Given the description of an element on the screen output the (x, y) to click on. 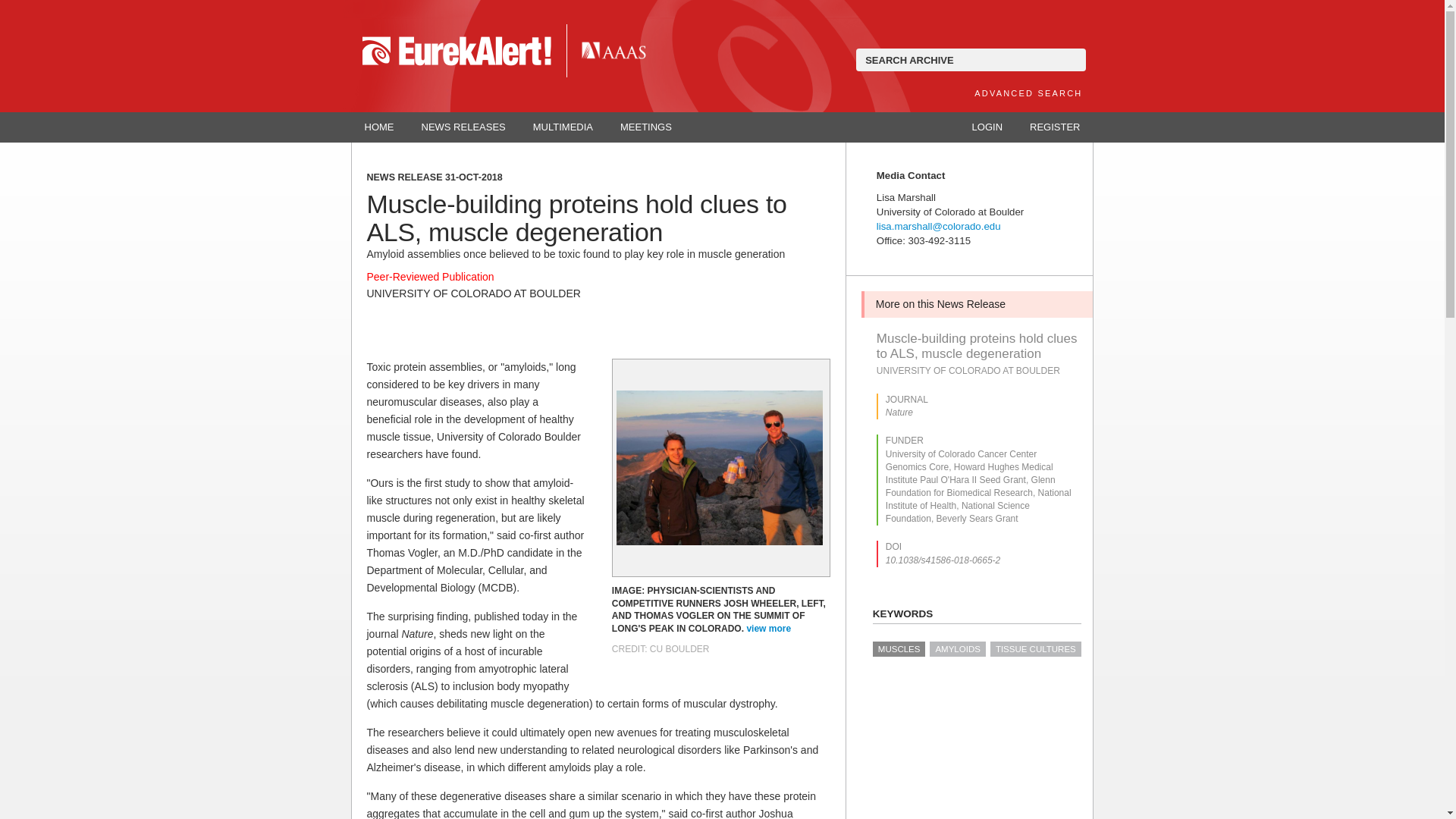
view more  (769, 628)
LOGIN (987, 127)
MULTIMEDIA (563, 127)
TISSUE CULTURES (1035, 648)
AMYLOIDS (957, 648)
Peer-Reviewed Publication (430, 276)
NEWS RELEASES (463, 127)
MEETINGS (646, 127)
REGISTER (1054, 127)
ADVANCED SEARCH (1027, 92)
HOME (378, 127)
MUSCLES (899, 648)
